Given the description of an element on the screen output the (x, y) to click on. 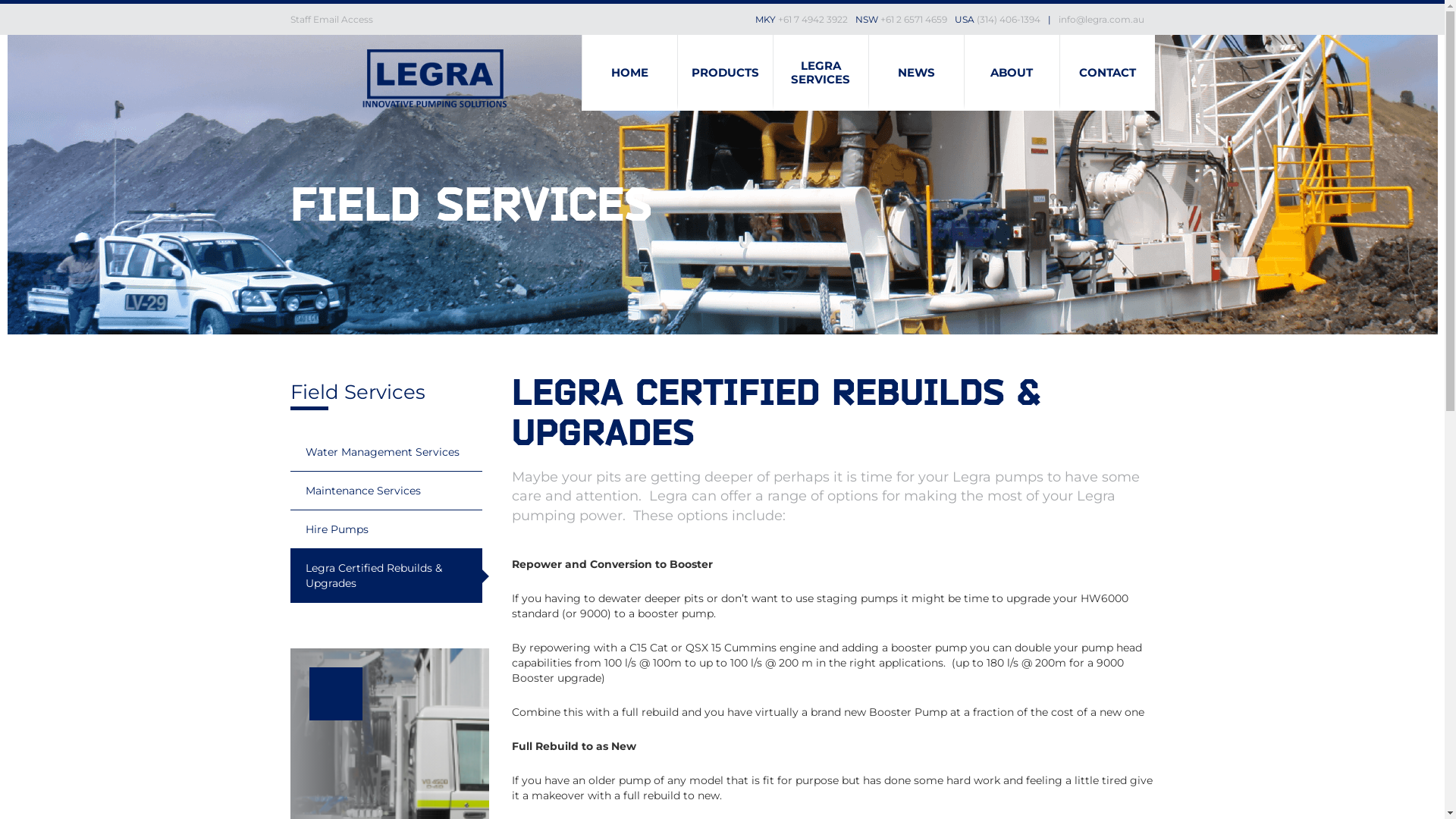
LEGRA SERVICES Element type: text (820, 72)
Staff Email Access Element type: text (330, 19)
Hire Pumps Element type: text (389, 529)
Legra Certified Rebuilds & Upgrades Element type: text (389, 575)
CONTACT Element type: text (1107, 72)
ABOUT Element type: text (1011, 72)
info@legra.com.au Element type: text (1101, 19)
HOME Element type: text (629, 72)
Maintenance Services Element type: text (389, 490)
Water Management Services Element type: text (389, 452)
NEWS Element type: text (916, 72)
PRODUCTS Element type: text (724, 72)
